Given the description of an element on the screen output the (x, y) to click on. 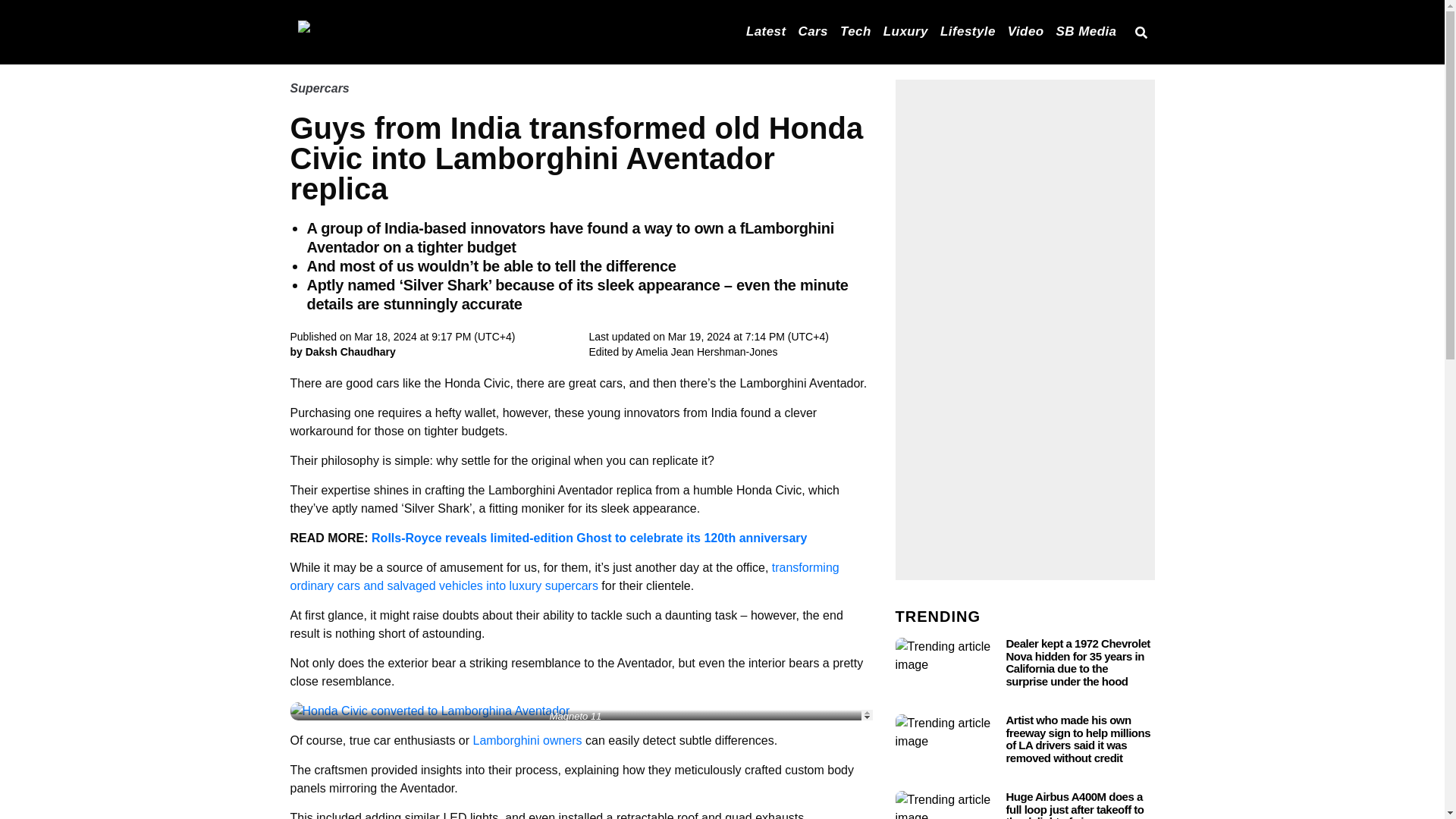
Luxury (905, 30)
Cars (812, 30)
Tech (855, 30)
Latest (765, 30)
